Given the description of an element on the screen output the (x, y) to click on. 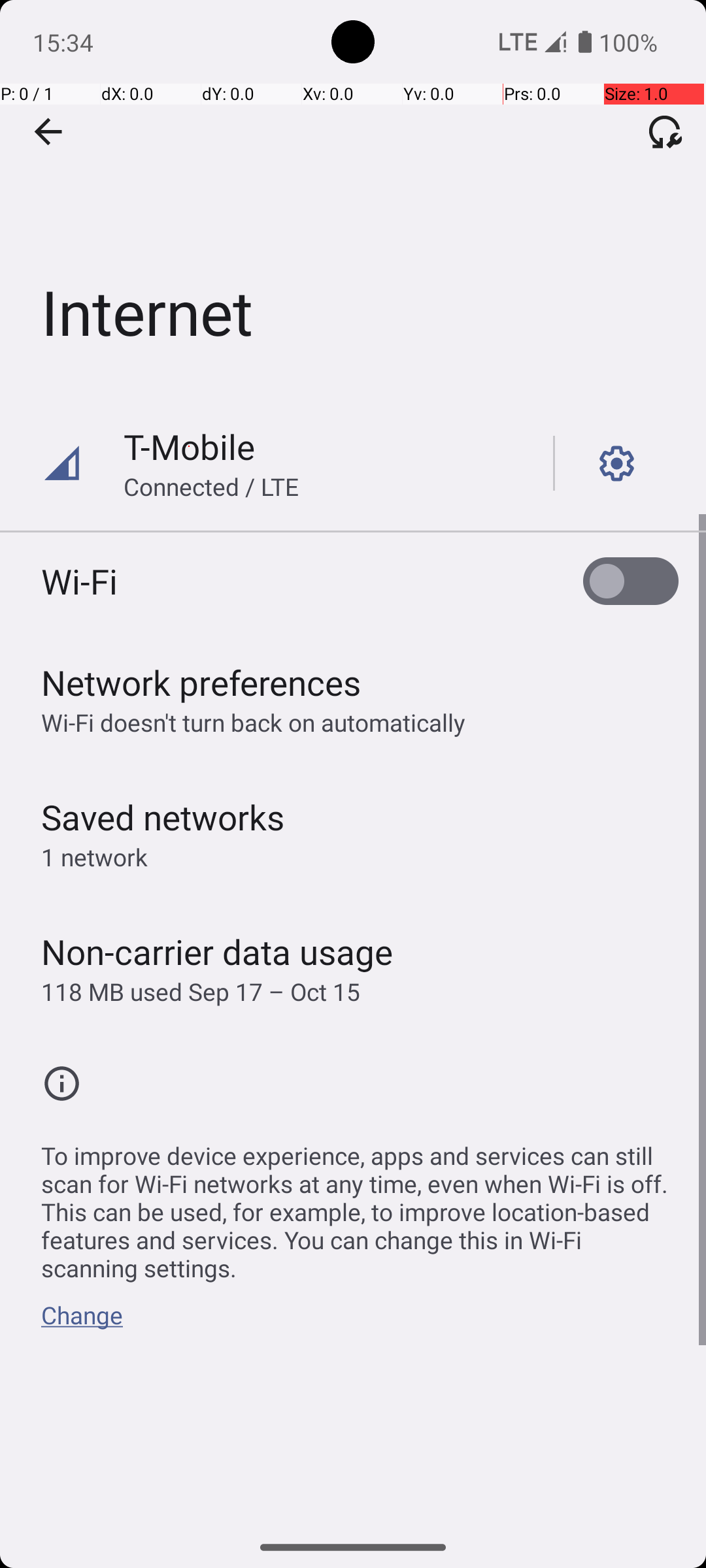
Fix connectivity Element type: android.widget.TextView (664, 131)
Connected / LTE Element type: android.widget.TextView (211, 486)
Network preferences Element type: android.widget.TextView (201, 682)
Wi‑Fi doesn't turn back on automatically Element type: android.widget.TextView (253, 721)
Saved networks Element type: android.widget.TextView (163, 816)
1 network Element type: android.widget.TextView (94, 856)
Non-carrier data usage Element type: android.widget.TextView (216, 951)
118 MB used Sep 17 – Oct 15 Element type: android.widget.TextView (200, 991)
To improve device experience, apps and services can still scan for Wi‑Fi networks at any time, even when Wi‑Fi is off. This can be used, for example, to improve location-based features and services. You can change this in Wi‑Fi scanning settings. Element type: android.widget.TextView (359, 1204)
Change Element type: android.widget.TextView (81, 1321)
